Given the description of an element on the screen output the (x, y) to click on. 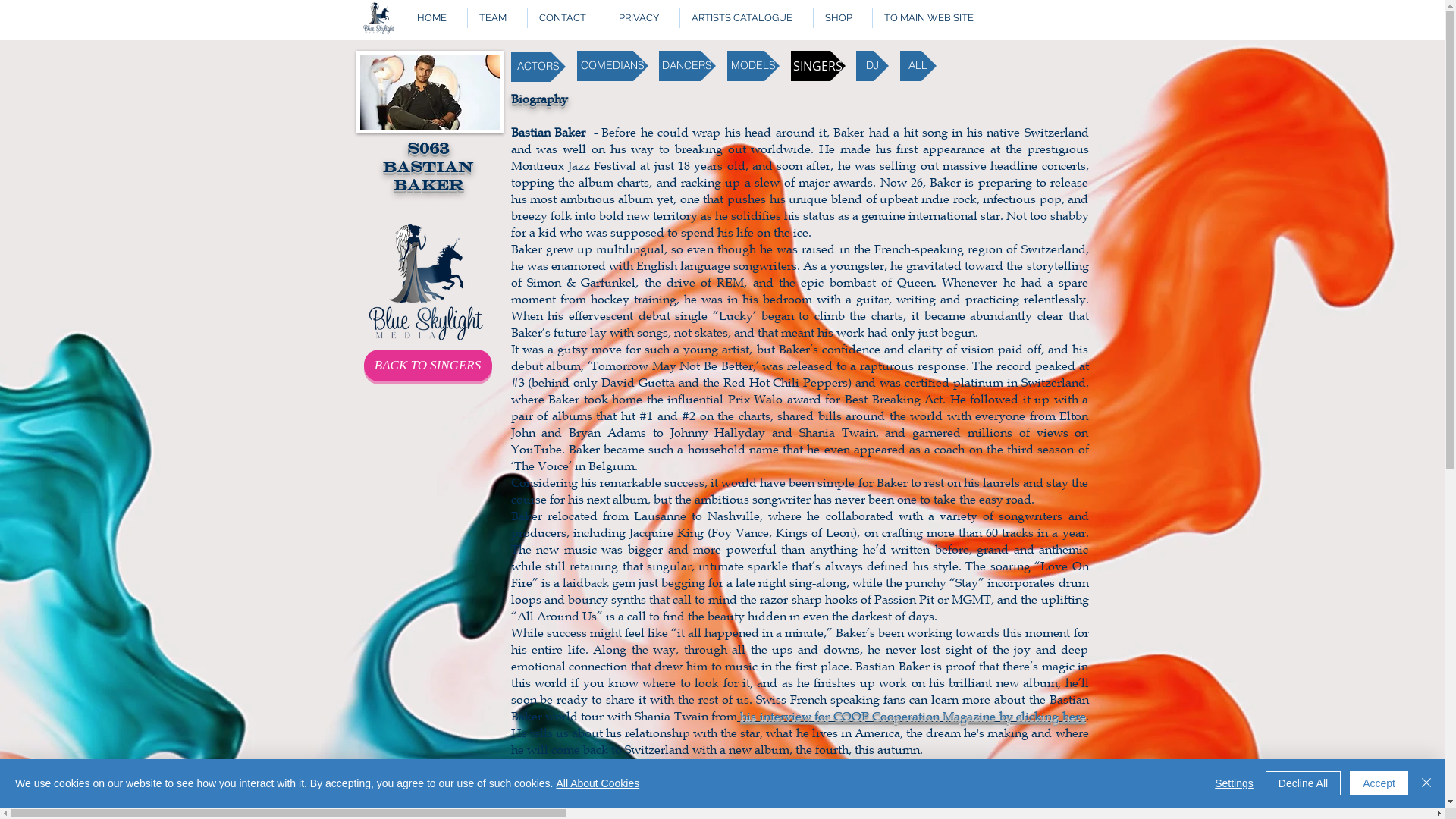
SHOP Element type: text (842, 18)
ACTORS Element type: text (538, 66)
BACK TO SINGERS Element type: text (428, 365)
TEAM Element type: text (497, 18)
CONTACT Element type: text (565, 18)
ARTISTS CATALOGUE Element type: text (745, 18)
TO MAIN WEB SITE Element type: text (932, 18)
MODELS Element type: text (752, 65)
DANCERS Element type: text (686, 65)
ALL Element type: text (917, 65)
his interview for COOP Cooperation Magazine by clicking here Element type: text (911, 715)
All About Cookies Element type: text (597, 783)
Accept Element type: text (1378, 783)
DJ Element type: text (871, 65)
Decline All Element type: text (1302, 783)
COMEDIANS Element type: text (611, 65)
SINGERS Element type: text (817, 65)
HOME Element type: text (435, 18)
PRIVACY Element type: text (642, 18)
